Given the description of an element on the screen output the (x, y) to click on. 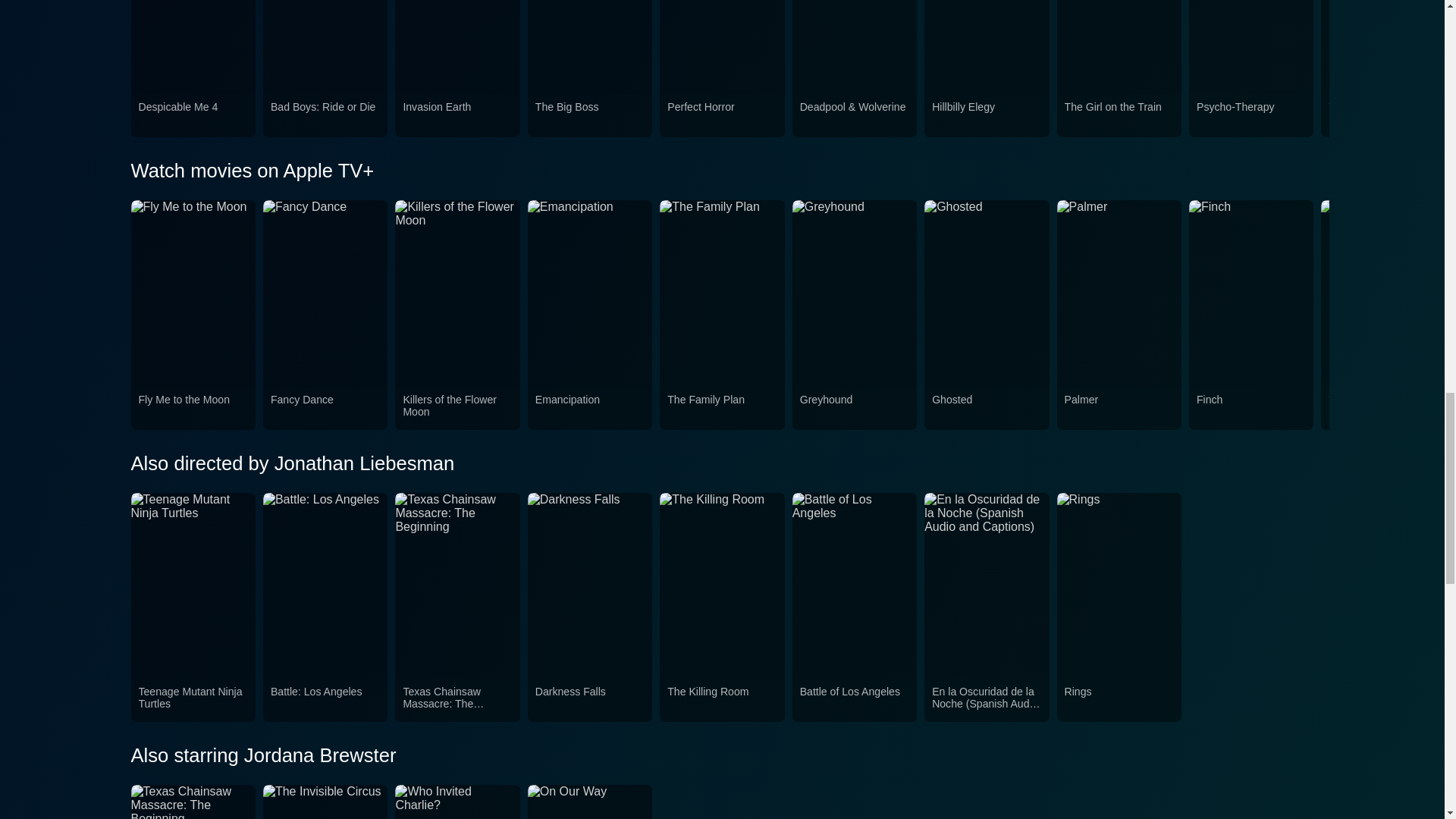
Bad Boys: Ride or Die (325, 115)
The Big Boss (590, 115)
Invasion Earth (457, 115)
Despicable Me 4 (192, 115)
Perfect Horror (721, 115)
